Given the description of an element on the screen output the (x, y) to click on. 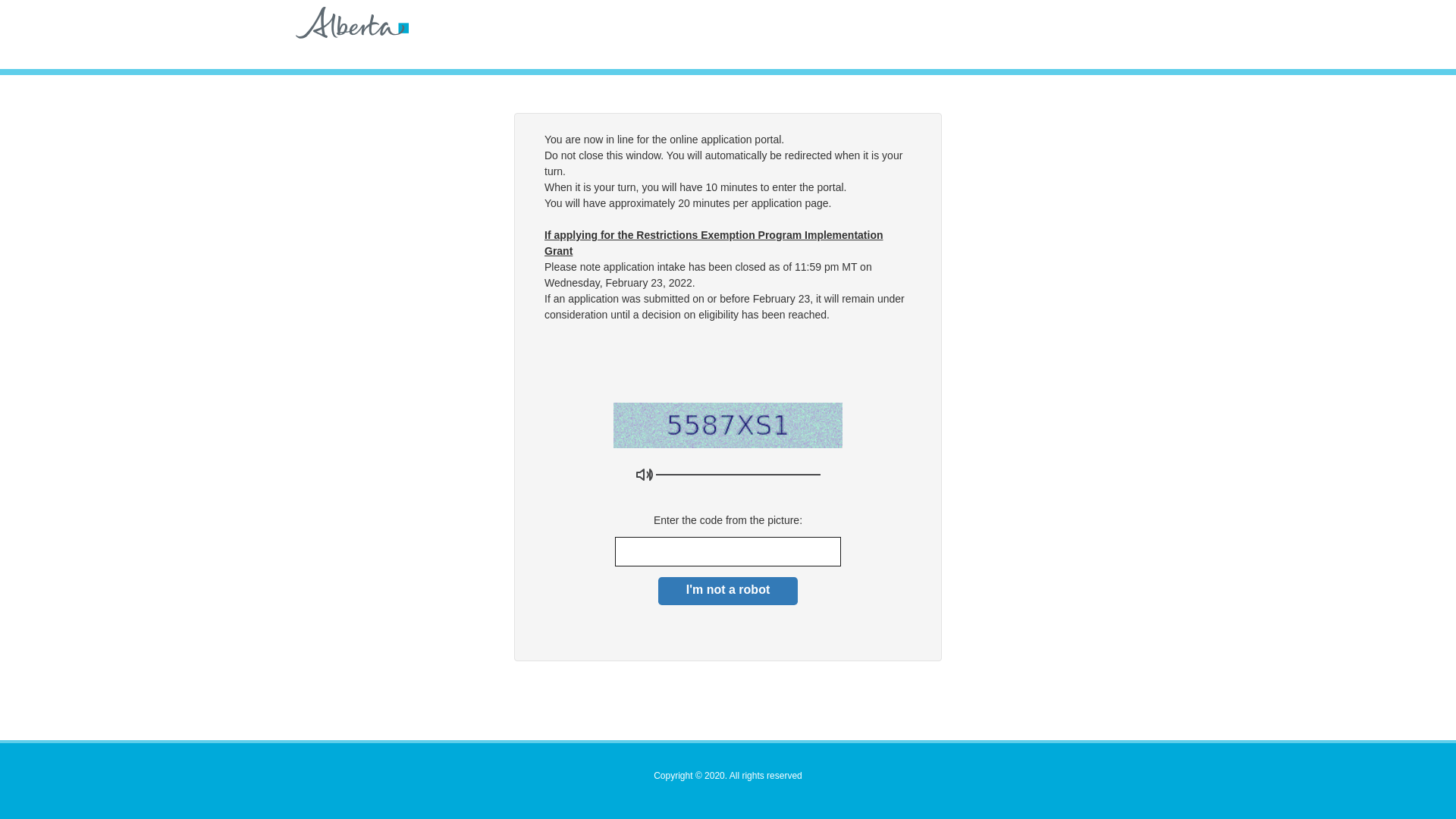
I'm not a robot Element type: text (727, 591)
